Given the description of an element on the screen output the (x, y) to click on. 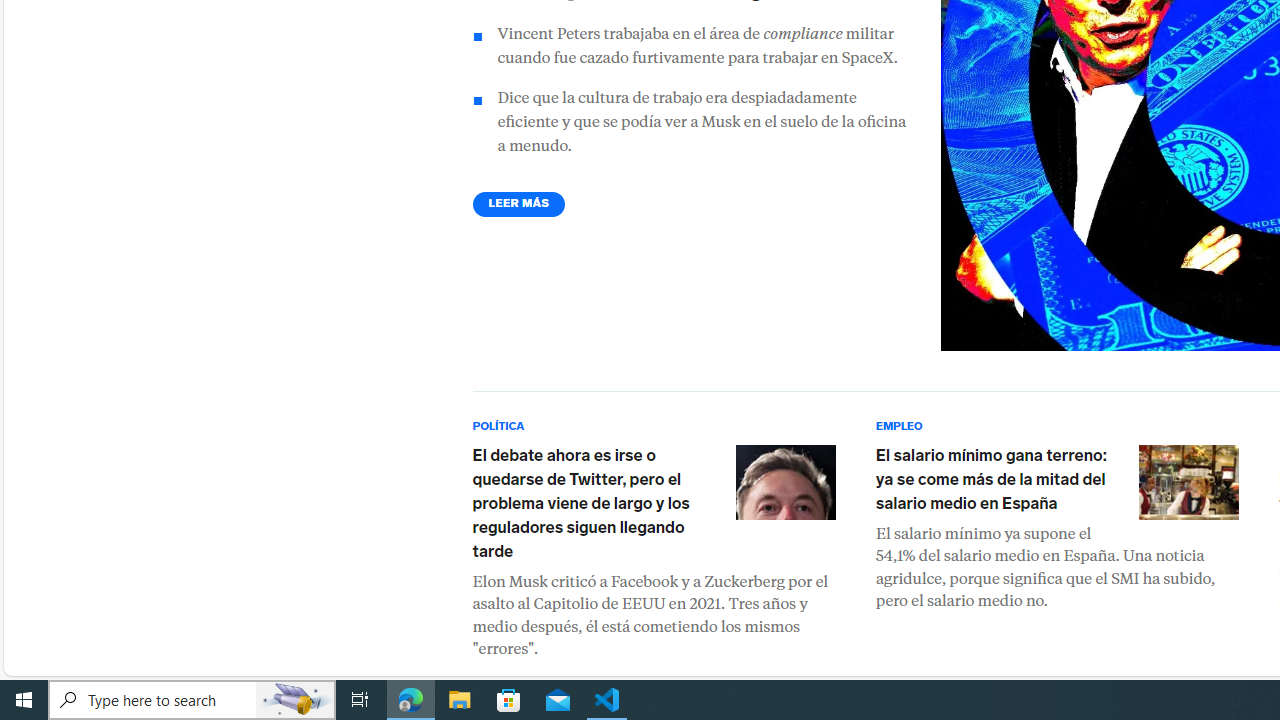
Elon Musk (784, 481)
